Given the description of an element on the screen output the (x, y) to click on. 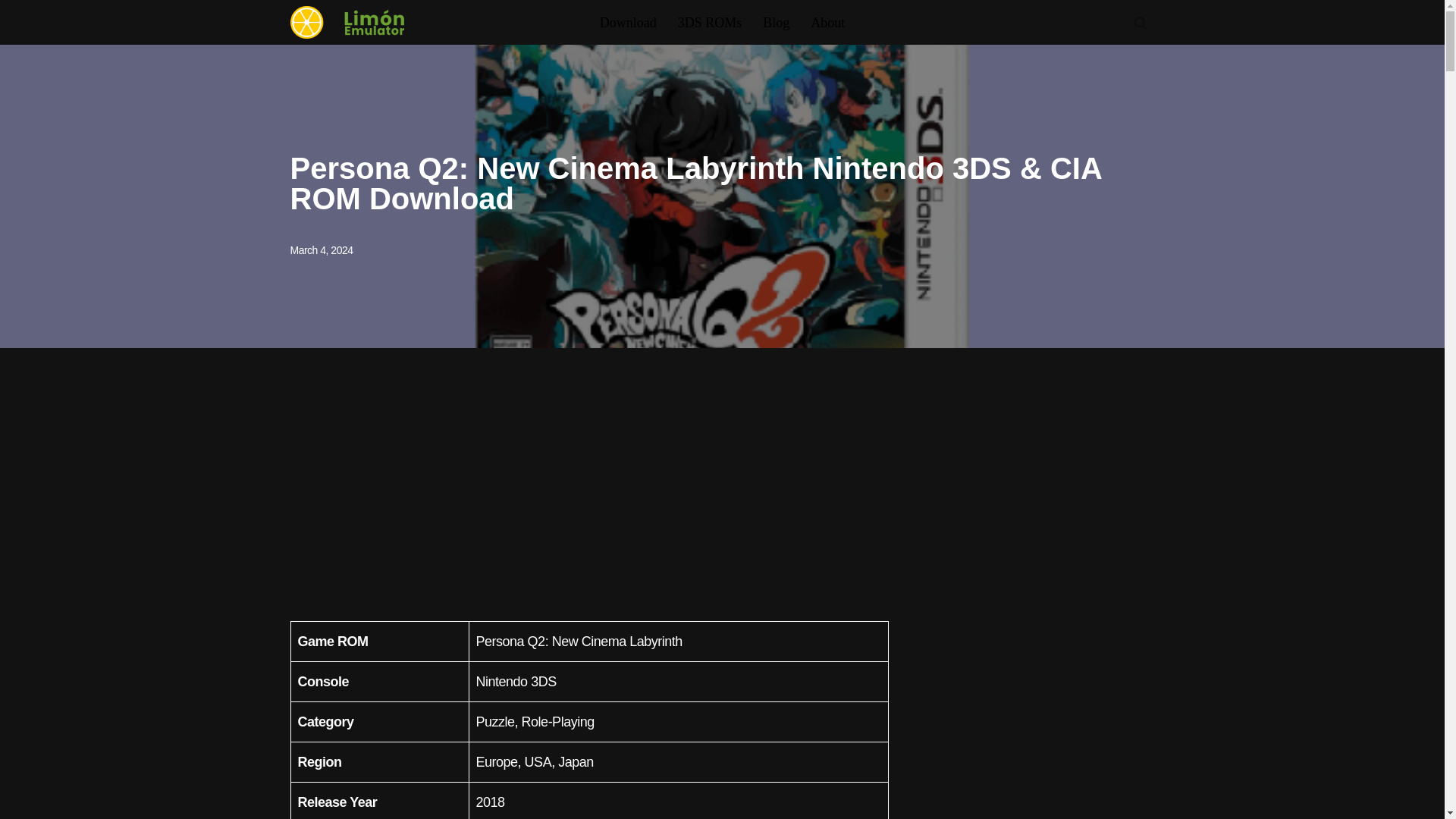
Skip to content (11, 31)
Advertisement (588, 484)
3DS ROMs (710, 22)
Blog (775, 22)
Download (627, 22)
About (827, 22)
